Given the description of an element on the screen output the (x, y) to click on. 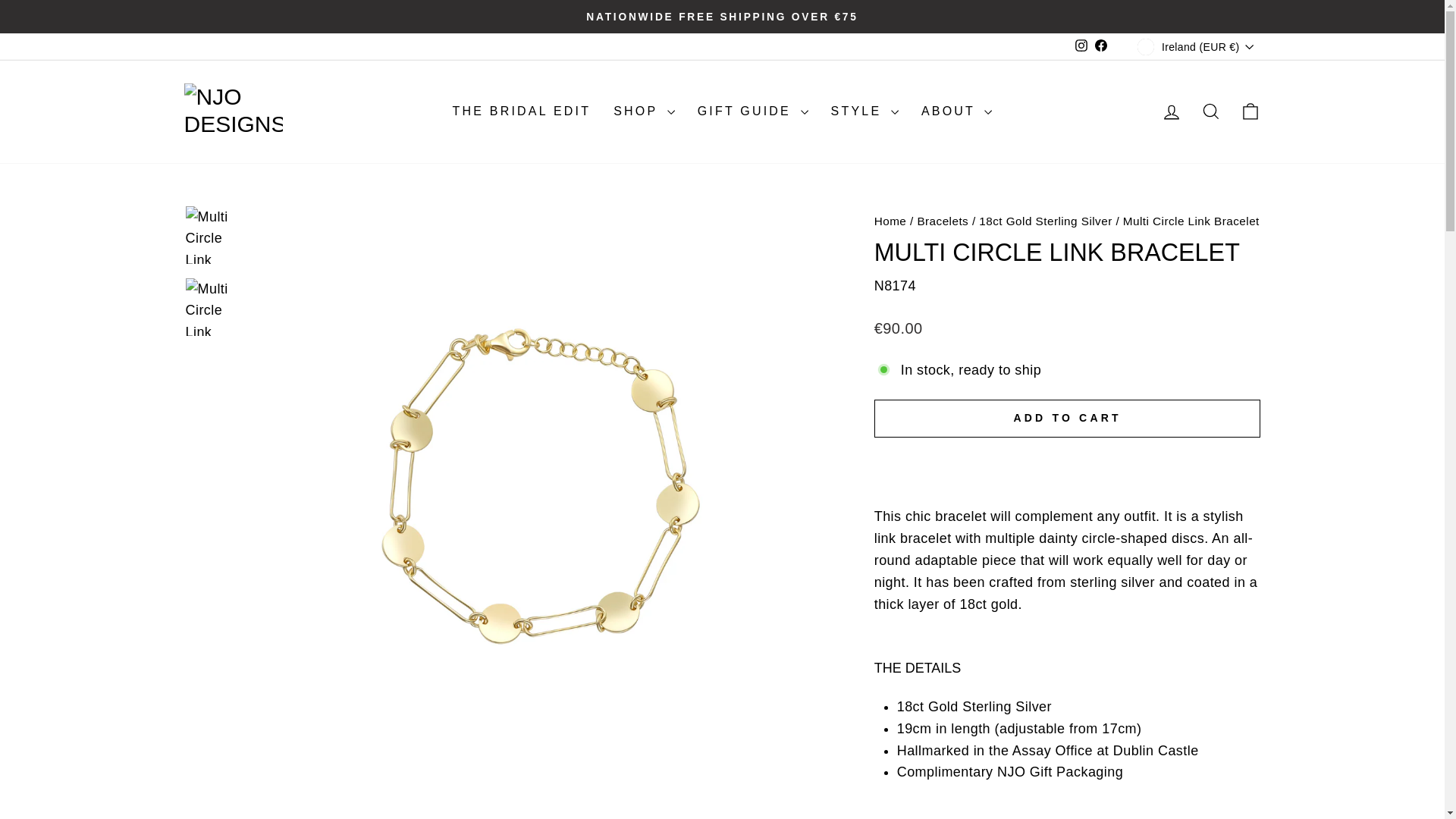
18ct Gold Sterling Silver (1045, 220)
ACCOUNT (1170, 111)
ICON-SEARCH (1210, 111)
instagram (1081, 45)
ICON-BAG-MINIMAL (1249, 111)
Back to the frontpage (891, 220)
Bracelets (942, 220)
